Given the description of an element on the screen output the (x, y) to click on. 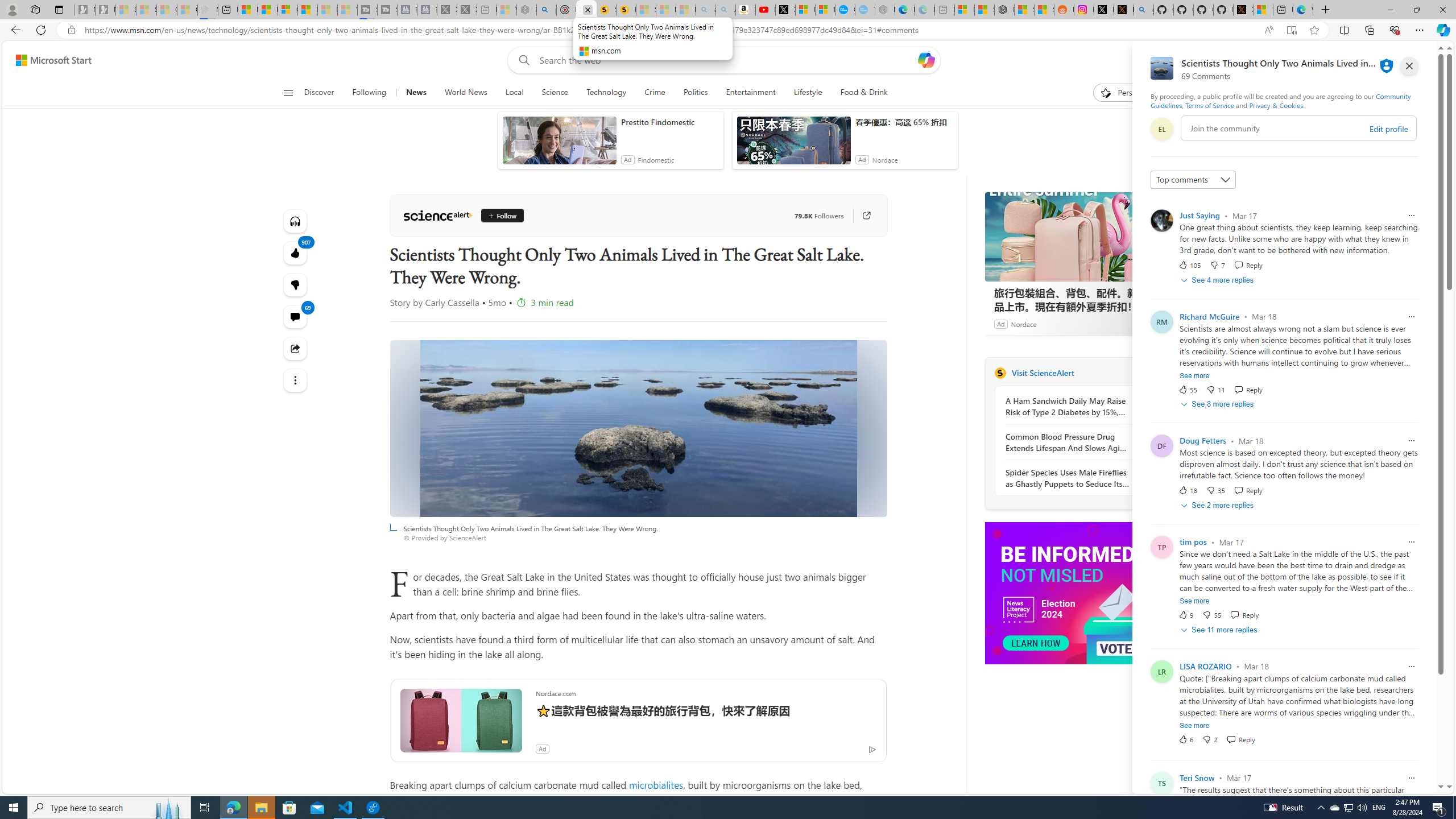
To get missing image descriptions, open the context menu. (1070, 593)
close (1409, 65)
Food & Drink (859, 92)
poe - Search (546, 9)
X Privacy Policy (1242, 9)
Microsoft Start - Sleeping (327, 9)
Nordace - Duffels (1004, 9)
Edit profile (1387, 128)
World News (465, 92)
907 Like (295, 252)
Wildlife - MSN - Sleeping (506, 9)
Open settings (1420, 60)
